Given the description of an element on the screen output the (x, y) to click on. 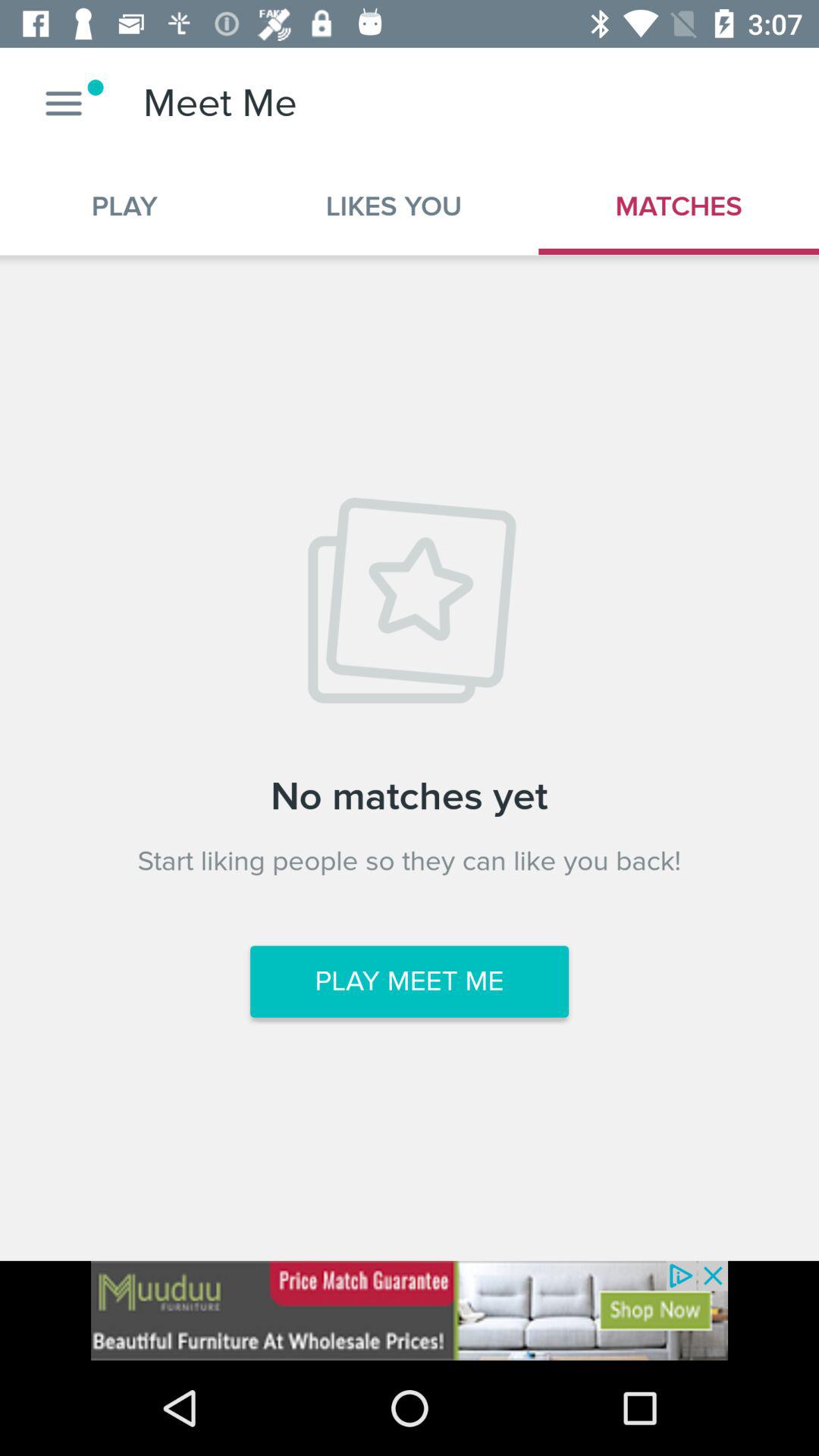
view advertisement (409, 1310)
